Given the description of an element on the screen output the (x, y) to click on. 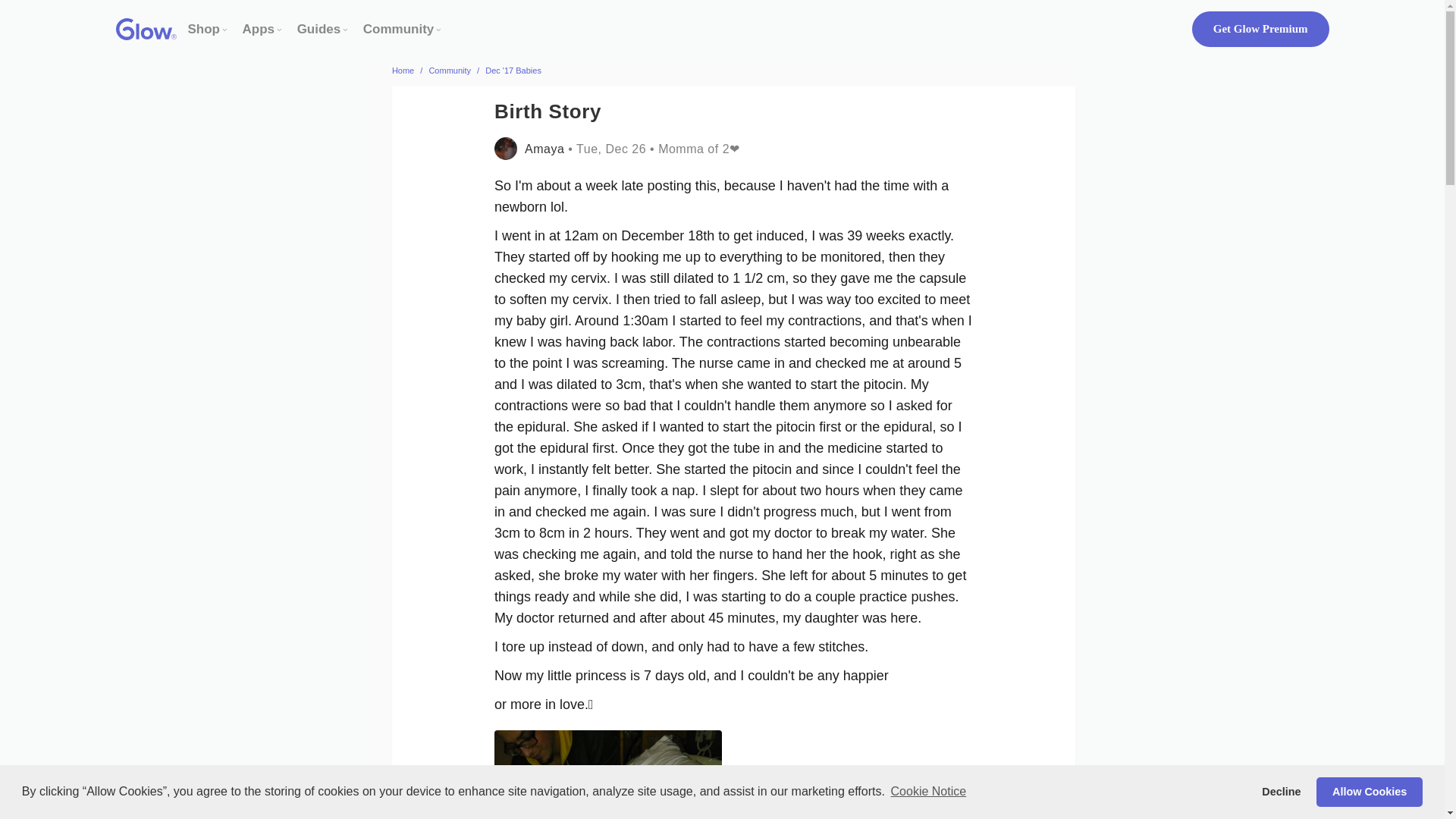
Glow Shop (204, 28)
Glow Community (397, 28)
Decline (1281, 791)
Shop (204, 28)
Allow Cookies (1369, 791)
Cookie Notice (928, 791)
Apps (259, 28)
Guides (318, 28)
